Given the description of an element on the screen output the (x, y) to click on. 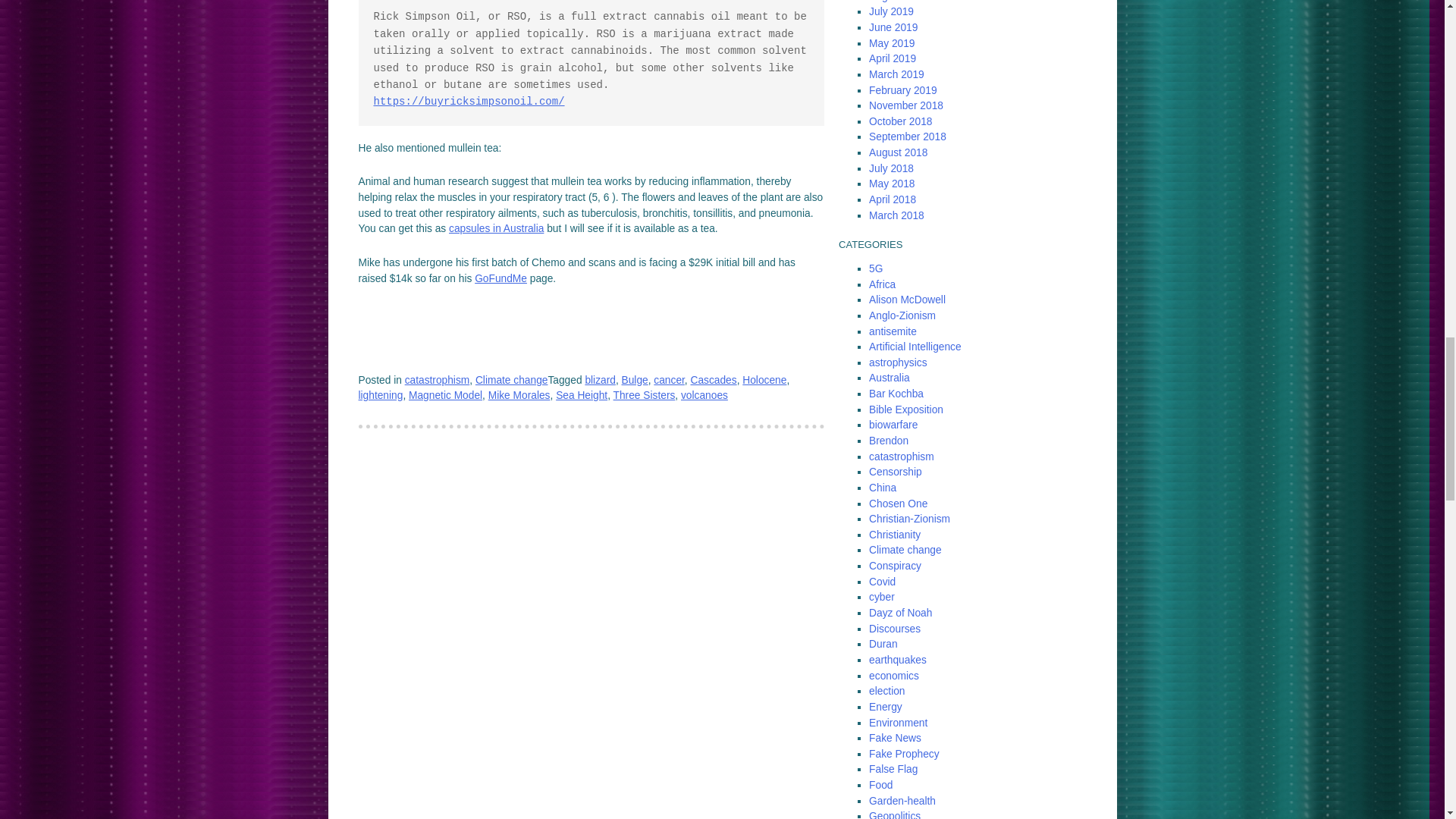
lightening (380, 395)
blizard (600, 379)
Cascades (713, 379)
capsules in Australia (495, 228)
Holocene (764, 379)
Climate change (512, 379)
volcanoes (704, 395)
Bulge (634, 379)
cancer (668, 379)
catastrophism (437, 379)
GoFundMe (500, 278)
Mike Morales (518, 395)
Magnetic Model (445, 395)
Three Sisters (643, 395)
Sea Height (581, 395)
